Given the description of an element on the screen output the (x, y) to click on. 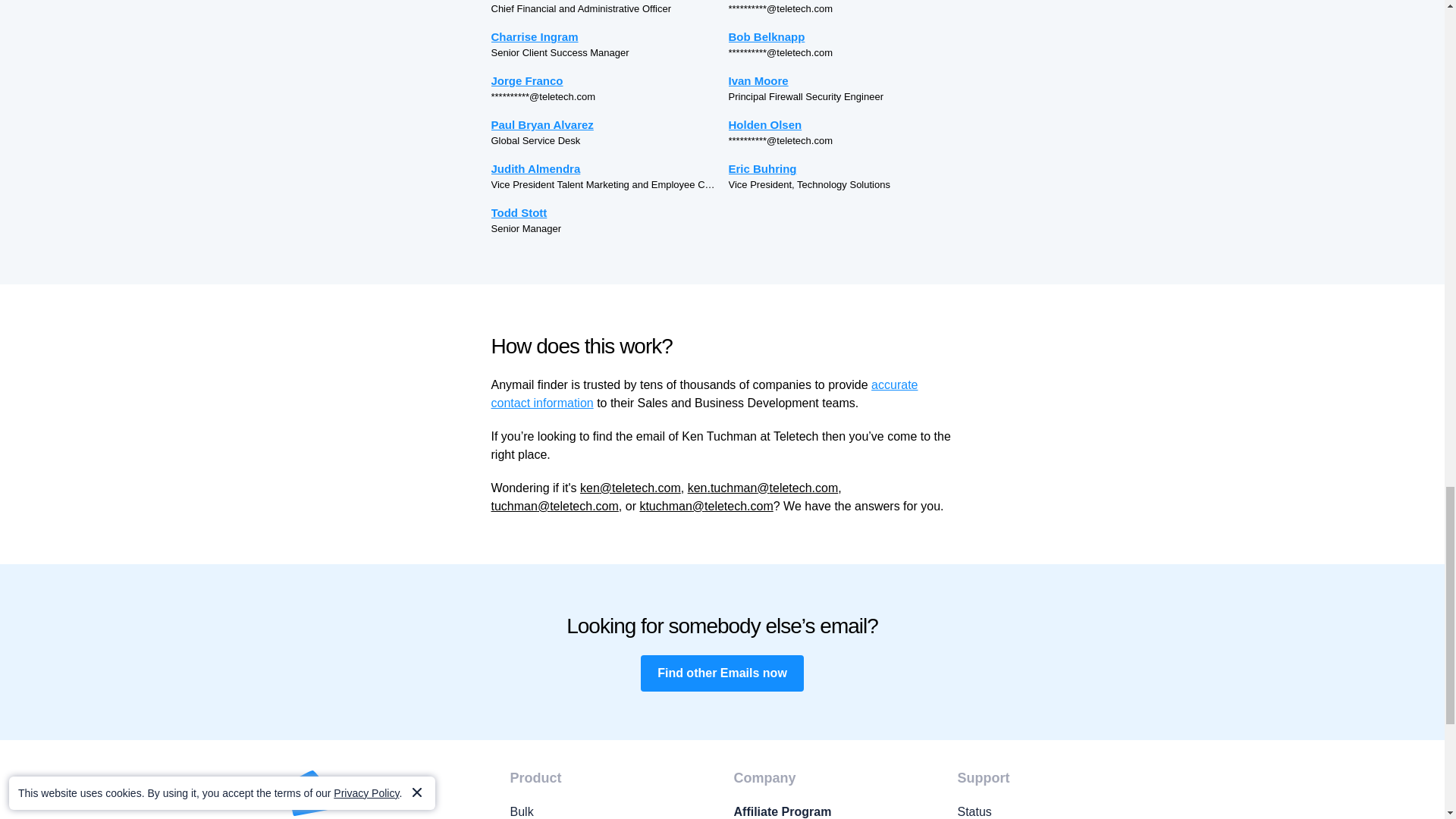
Bulk (609, 810)
Find other Emails now (721, 673)
Eric Buhring (840, 168)
accurate contact information (705, 393)
Judith Almendra (604, 168)
Charrise Ingram (604, 36)
Holden Olsen (840, 124)
Jorge Franco (604, 80)
